Given the description of an element on the screen output the (x, y) to click on. 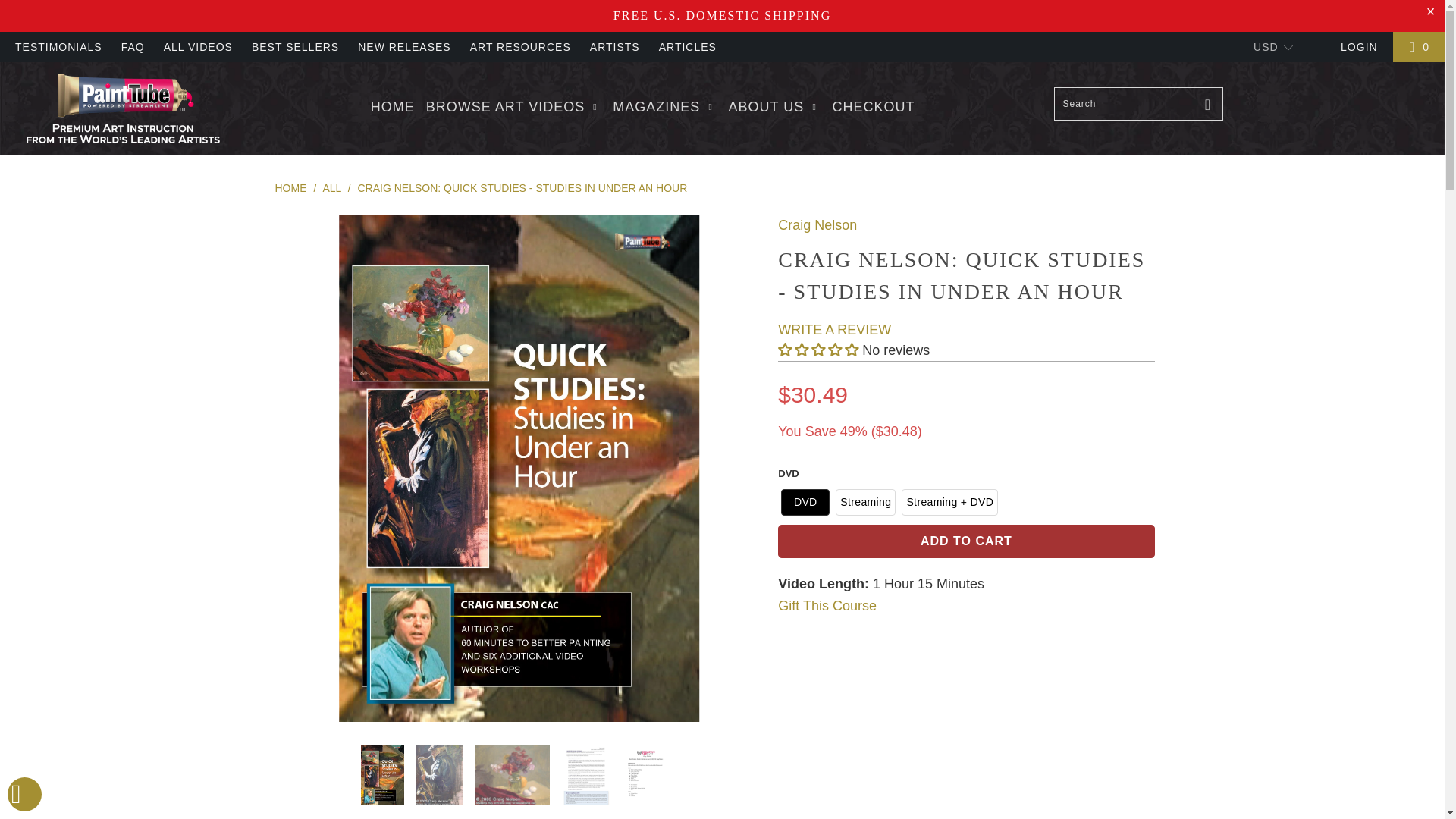
PaintTube.tv (122, 108)
PaintTube.tv (290, 187)
Craig Nelson (817, 224)
All (332, 187)
My Account  (1358, 46)
